Given the description of an element on the screen output the (x, y) to click on. 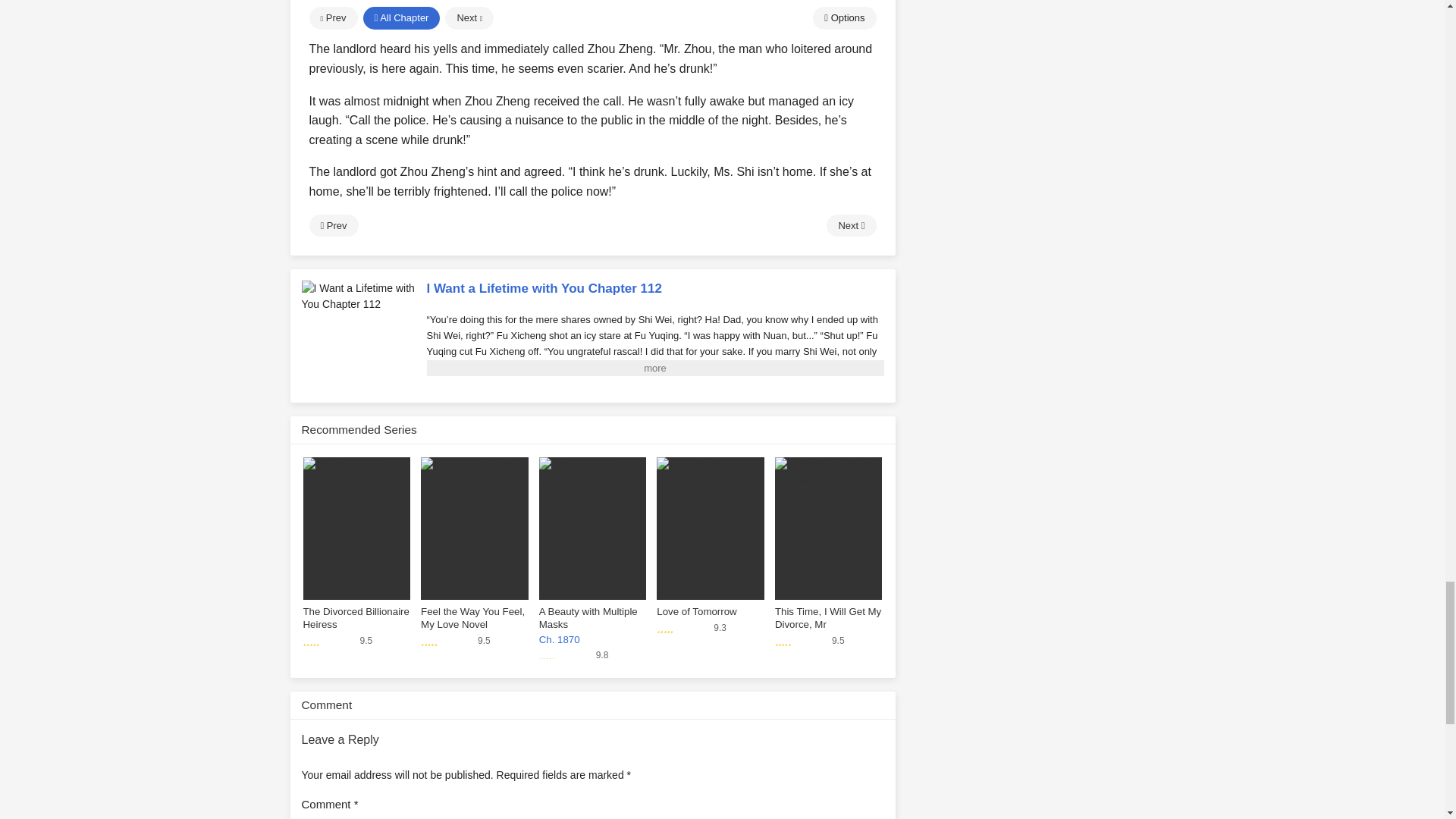
I Want a Lifetime with You Chapter 112 (357, 296)
Prev (333, 225)
Next (851, 225)
